Given the description of an element on the screen output the (x, y) to click on. 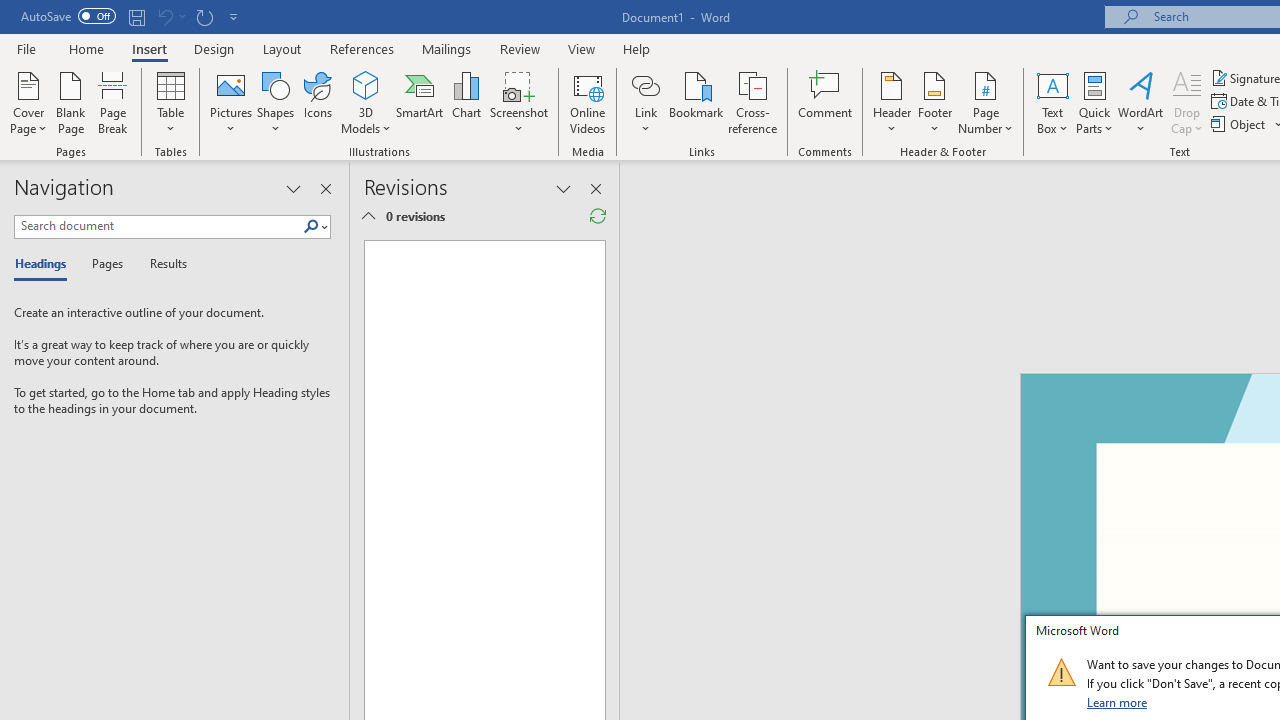
Quick Parts (1094, 102)
Drop Cap (1187, 102)
System (10, 11)
File Tab (26, 48)
Bookmark... (695, 102)
Search document (157, 226)
SmartArt... (419, 102)
Close pane (325, 188)
Refresh Reviewing Pane (597, 215)
Link (645, 102)
Page Number (986, 102)
AutoSave (68, 16)
Object... (1240, 124)
Review (520, 48)
